Given the description of an element on the screen output the (x, y) to click on. 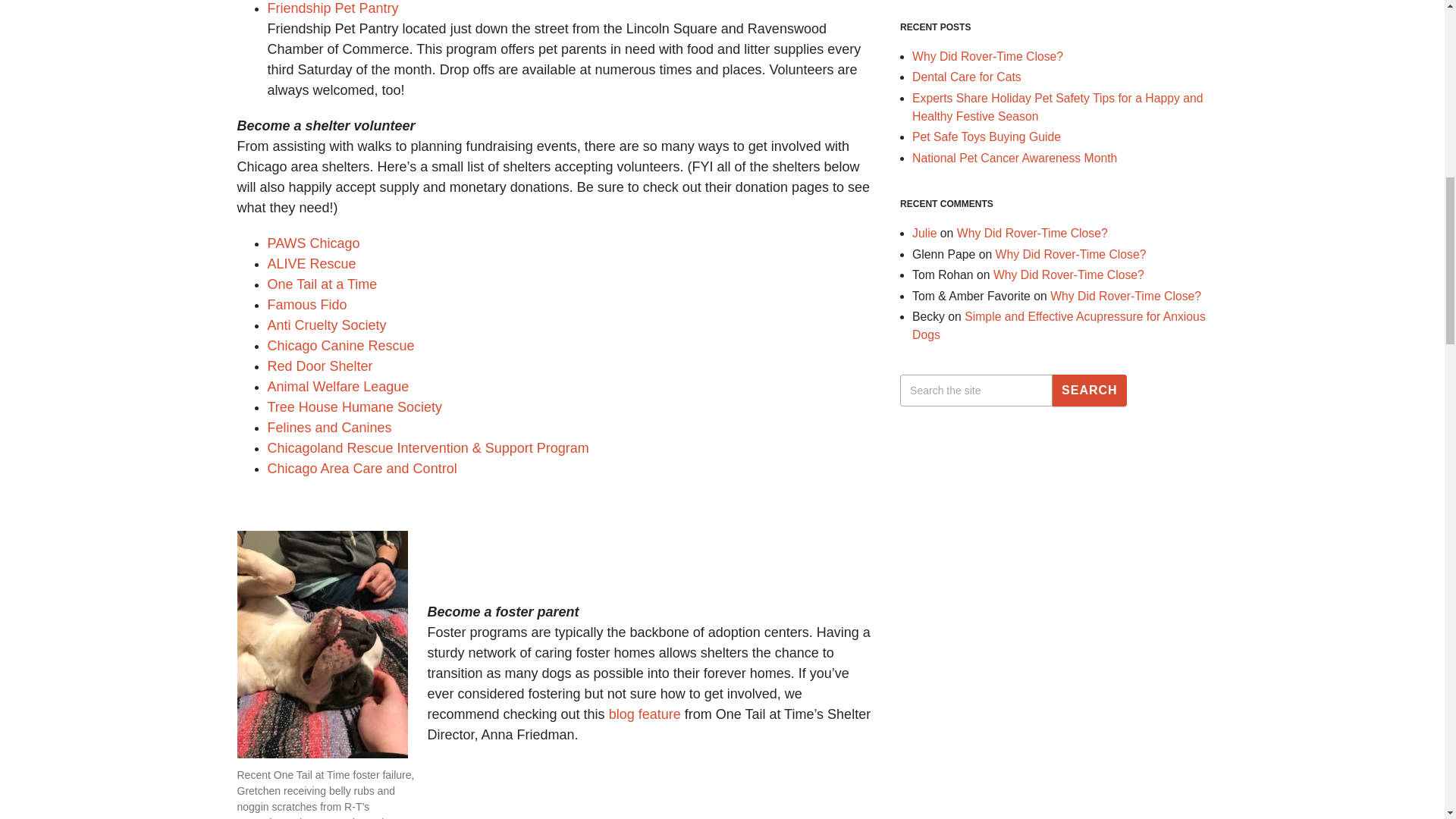
Chicago Area Care and Control (361, 468)
Red Door Shelter (319, 365)
ALIVE Rescue (310, 263)
Felines and Canines (328, 427)
Famous Fido (306, 304)
Tree House Humane Society (353, 406)
PAWS Chicago (312, 242)
Friendship Pet Pantry (331, 7)
Chicago Canine Rescue (339, 345)
Animal Welfare League (337, 386)
Anti Cruelty Society (325, 324)
blog feature (644, 713)
One Tail at a Time (321, 283)
